Given the description of an element on the screen output the (x, y) to click on. 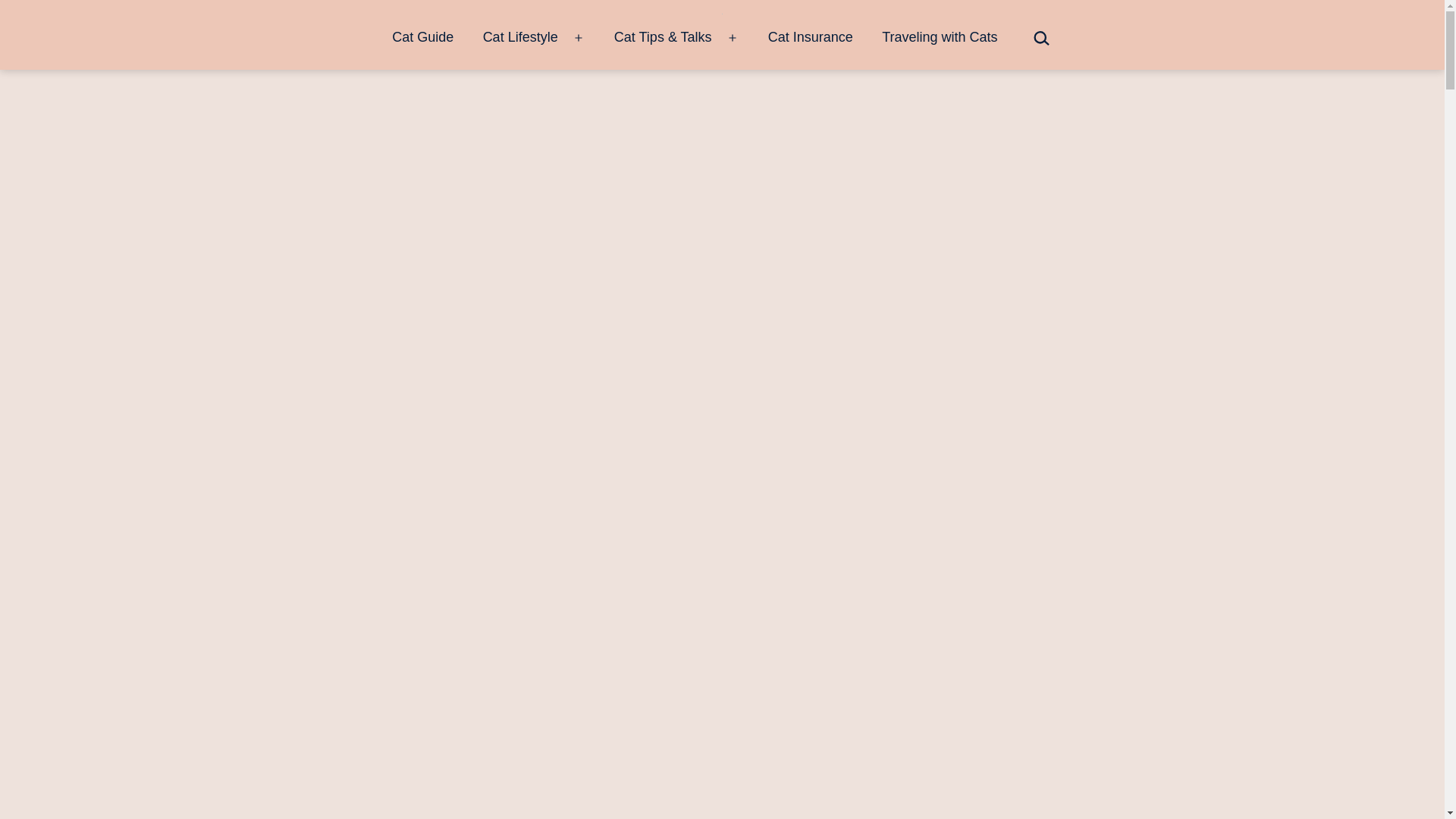
Open menu (578, 37)
Traveling with Cats (939, 37)
Cat Guide (422, 37)
Open menu (732, 37)
Cat Lifestyle (519, 37)
Cat Insurance (810, 37)
